Given the description of an element on the screen output the (x, y) to click on. 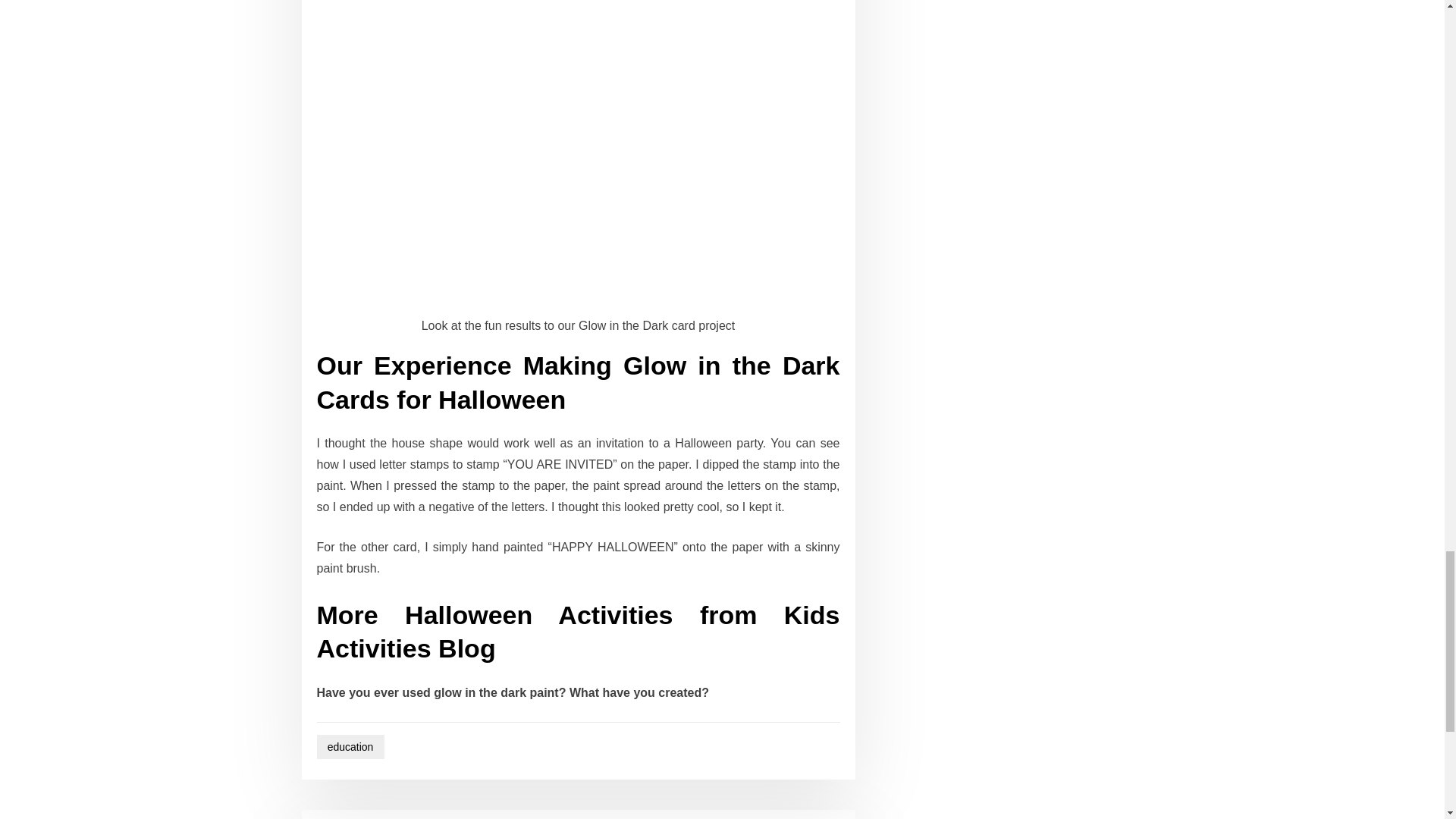
education (350, 747)
